Given the description of an element on the screen output the (x, y) to click on. 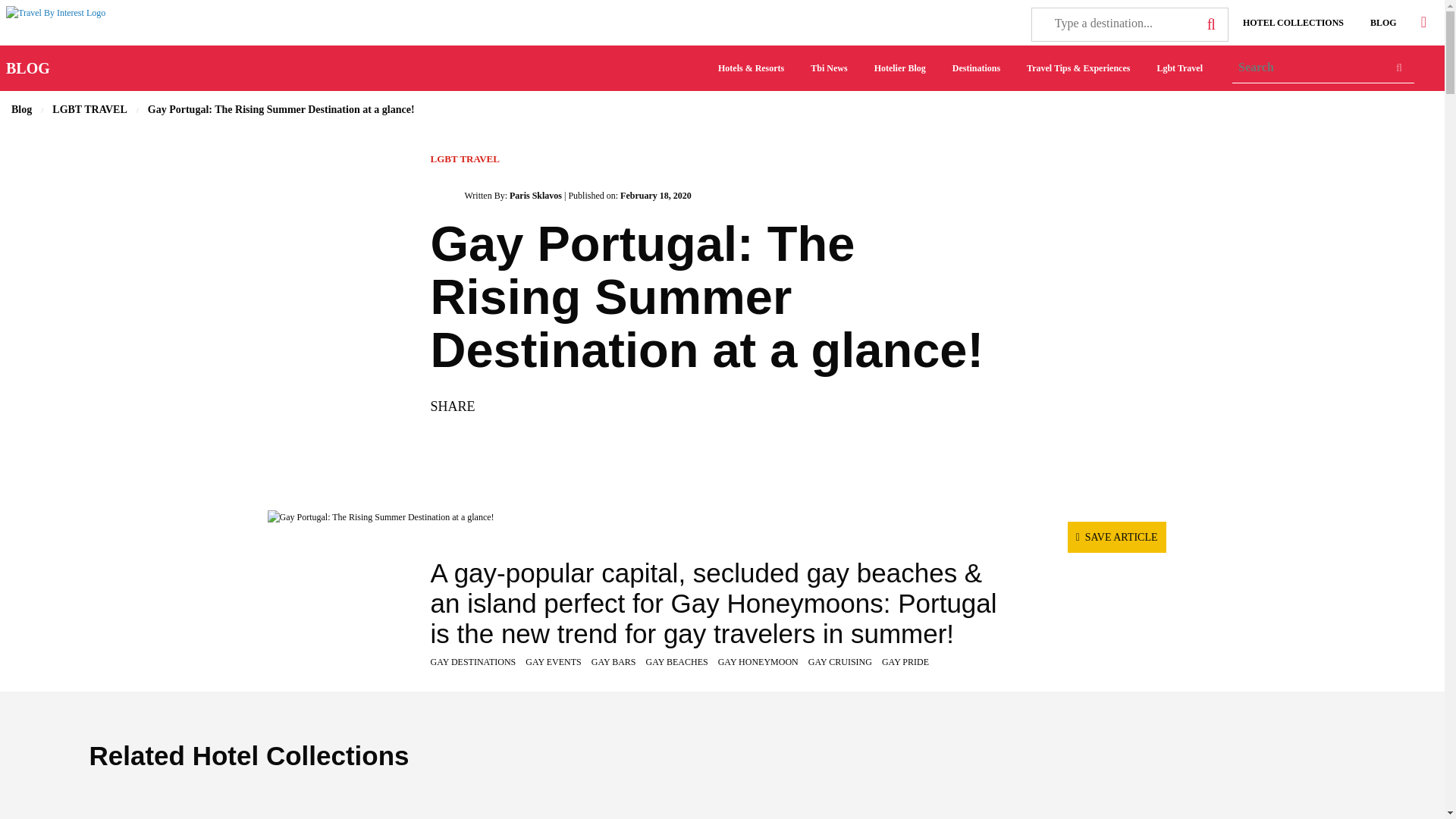
Hotelier Blog (899, 68)
Tbi News (828, 68)
BLOG (1383, 22)
Destinations (975, 68)
BLOG (27, 67)
Gay Portugal: The Rising Summer Destination at a glance! (721, 517)
Lgbt Travel (1179, 68)
HOTEL COLLECTIONS (1292, 22)
